Given the description of an element on the screen output the (x, y) to click on. 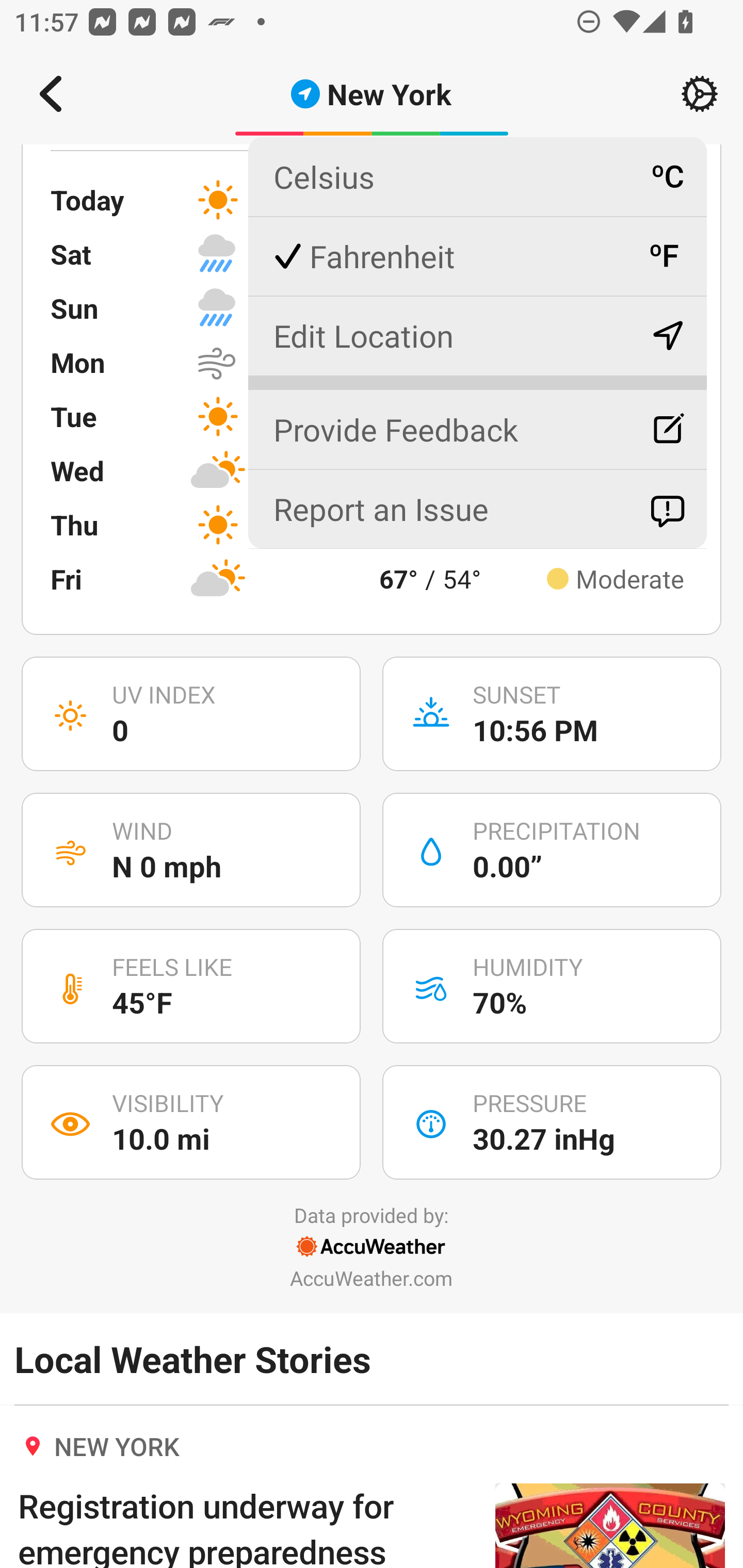
Celsius (477, 176)
Fahrenheit (477, 256)
Edit Location (477, 335)
Provide Feedback (477, 421)
Report an Issue (477, 508)
